Given the description of an element on the screen output the (x, y) to click on. 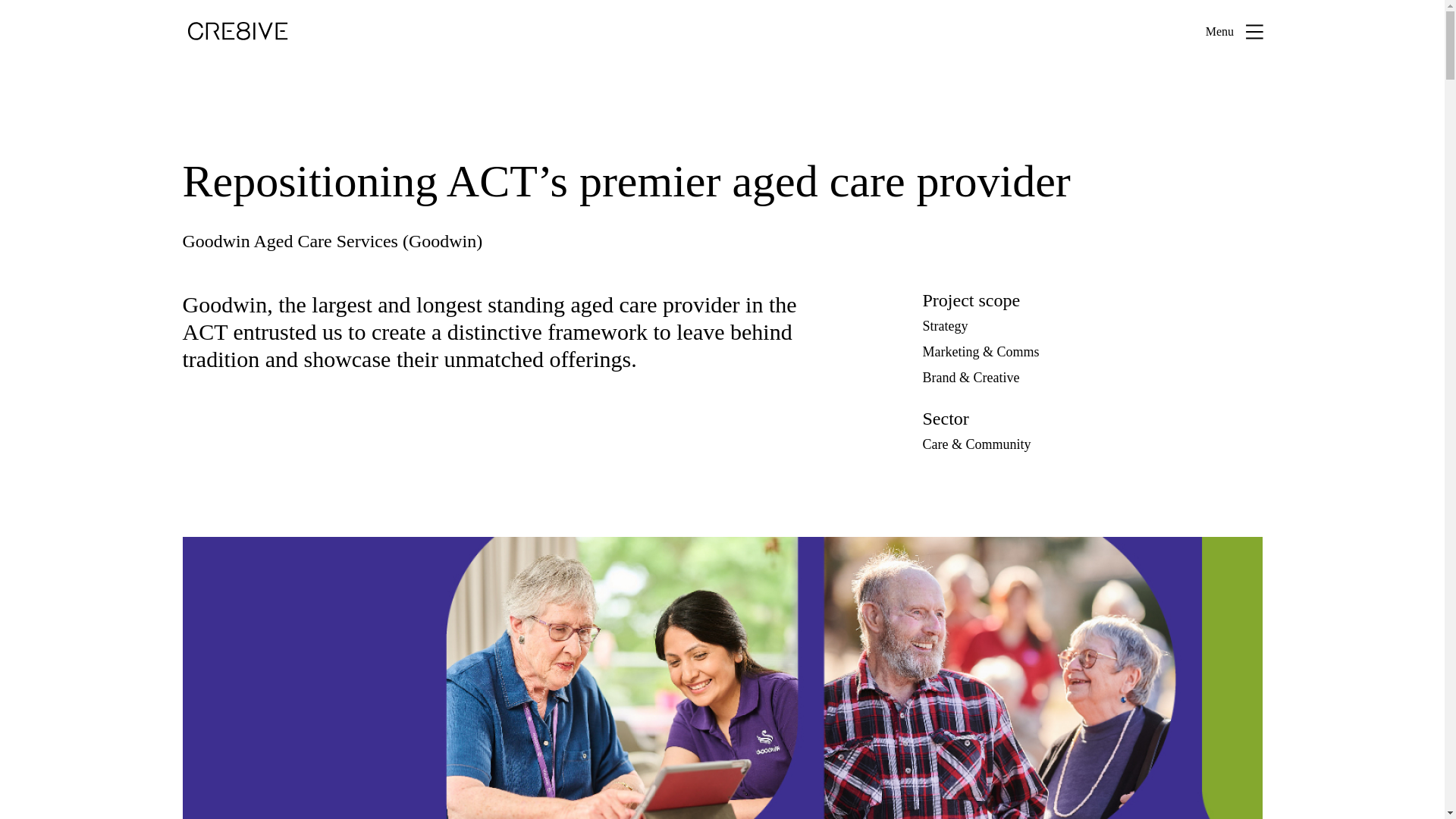
Menu (1236, 31)
Open the menu (1236, 31)
Skip to main content (722, 1)
